Given the description of an element on the screen output the (x, y) to click on. 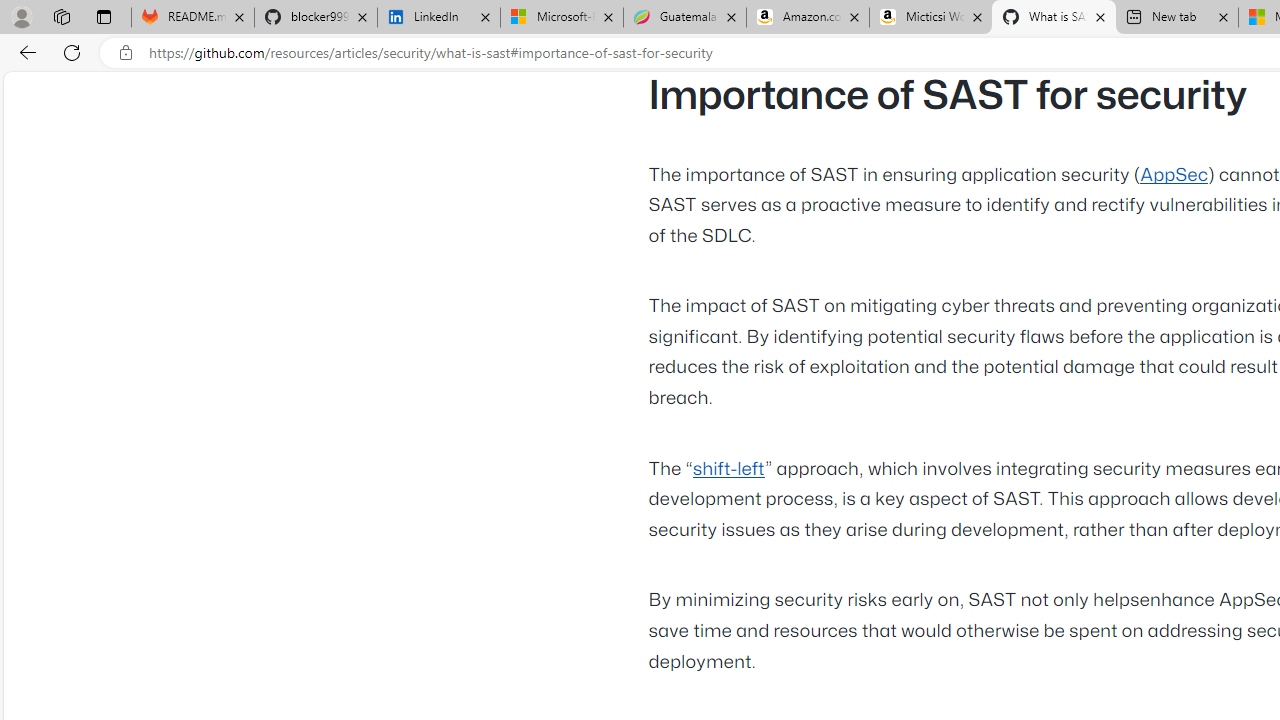
shift-left (728, 469)
